Given the description of an element on the screen output the (x, y) to click on. 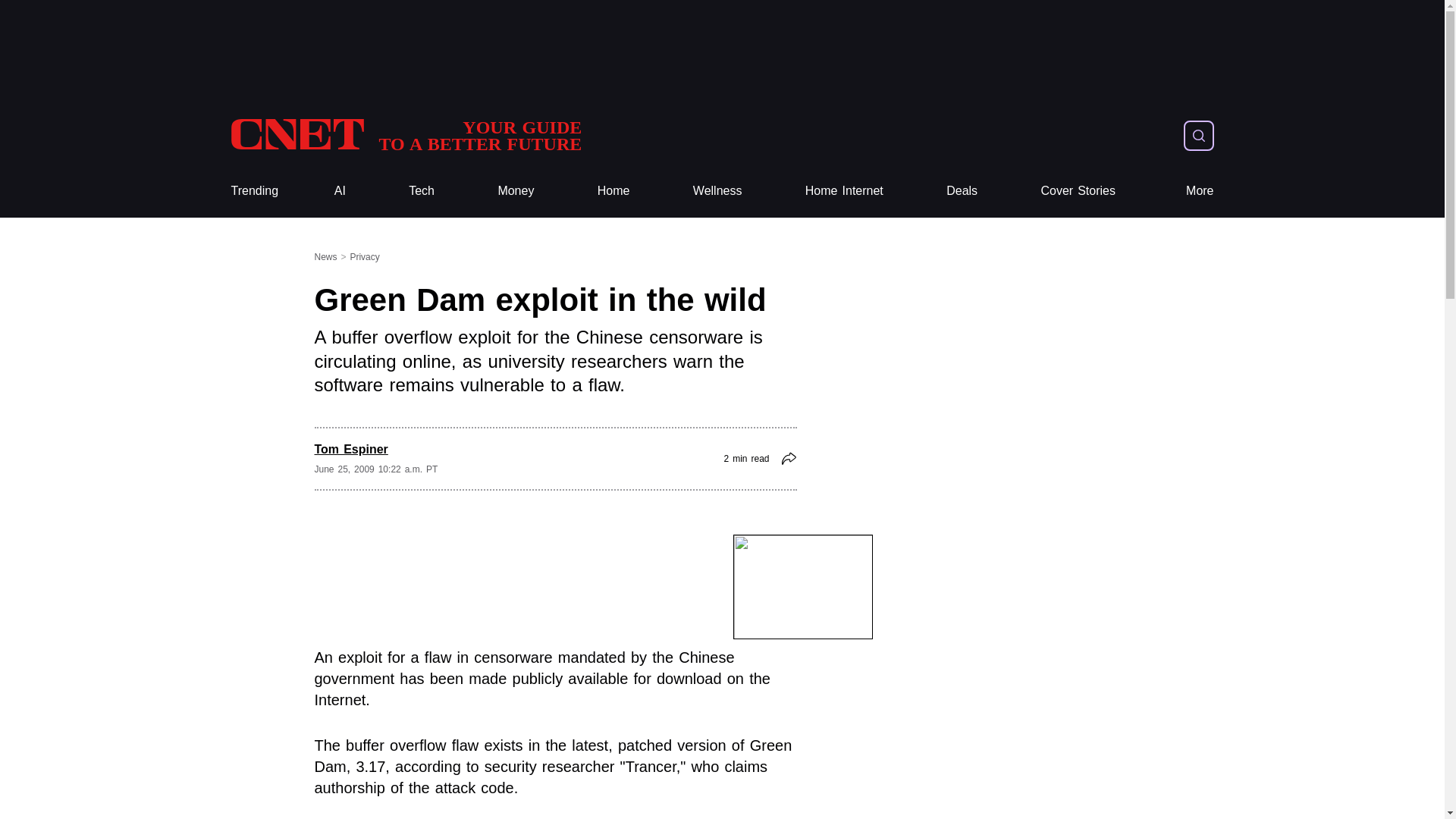
Home Internet (844, 190)
More (1199, 190)
Home (613, 190)
Tech (421, 190)
Trending (254, 190)
Home (613, 190)
Wellness (717, 190)
Deals (961, 190)
Money (405, 135)
Trending (515, 190)
Tech (254, 190)
Wellness (421, 190)
Money (717, 190)
CNET (515, 190)
